Given the description of an element on the screen output the (x, y) to click on. 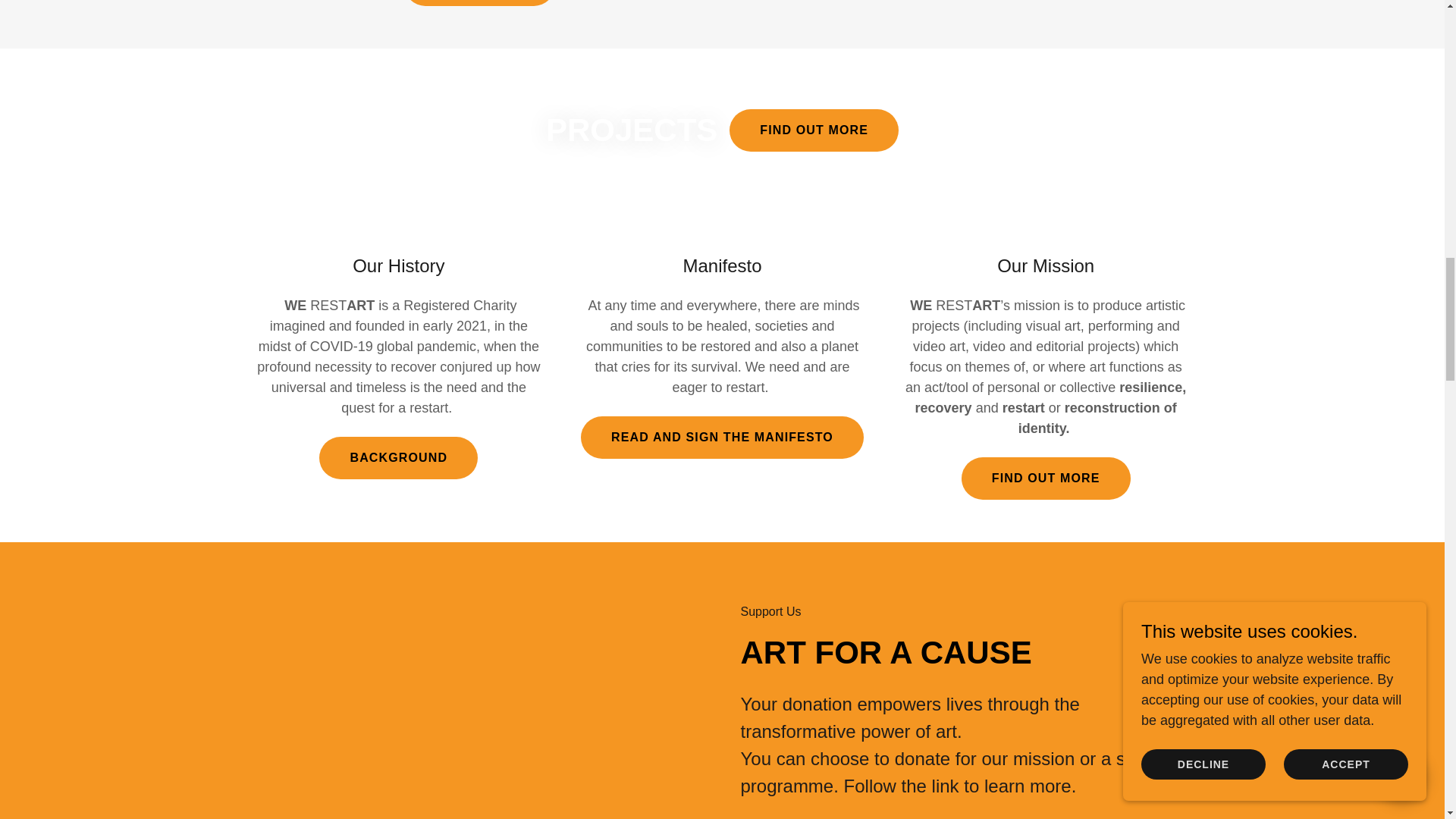
FIND OUT MORE (1045, 478)
READ AND SIGN THE MANIFESTO (721, 437)
LEARN MORE (479, 2)
FIND OUT MORE (813, 129)
BACKGROUND (397, 457)
